Given the description of an element on the screen output the (x, y) to click on. 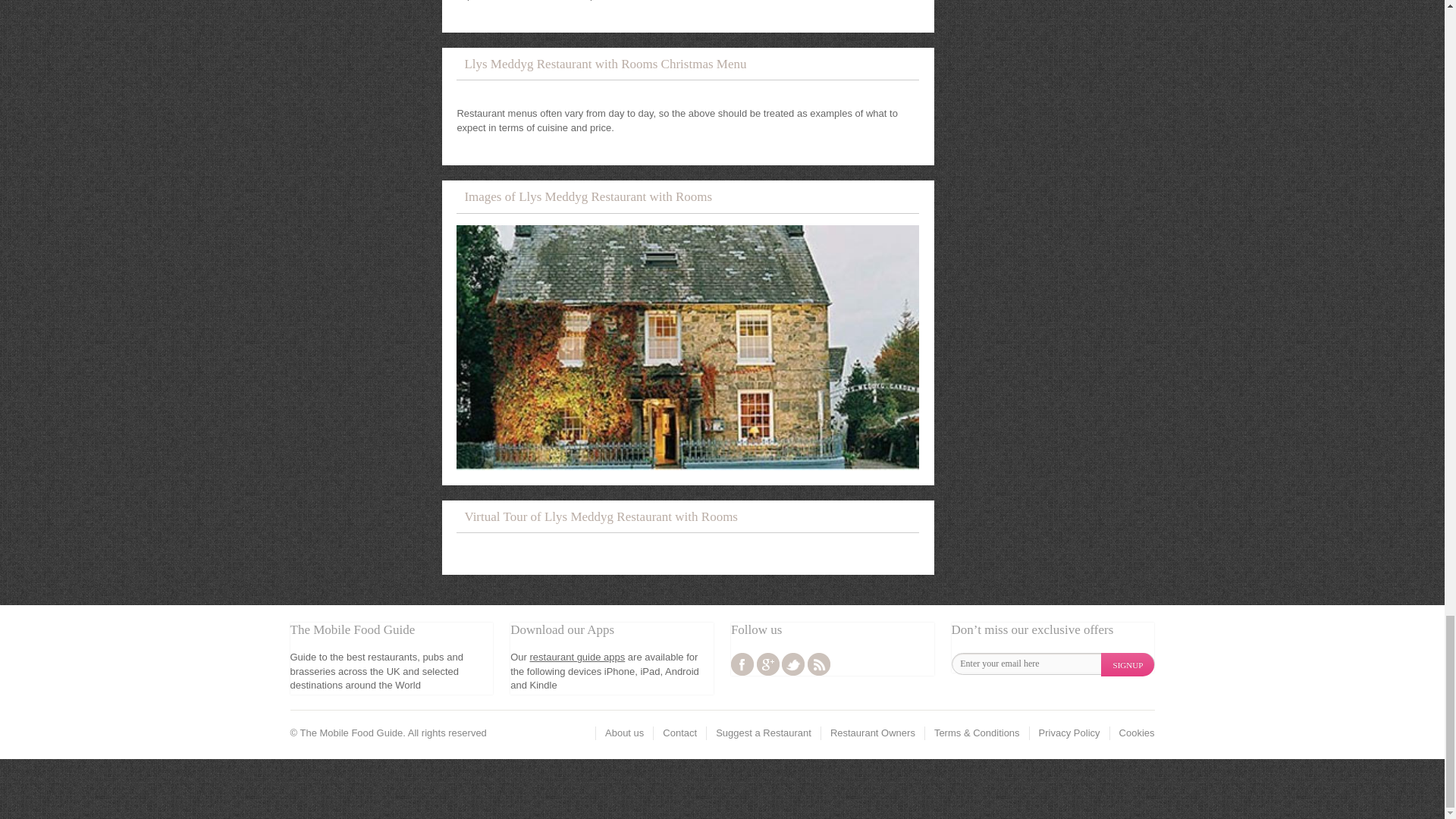
twitter (793, 663)
Blog (818, 663)
Signup (1127, 664)
googleplus (767, 663)
facebook (742, 663)
About us (624, 732)
